Given the description of an element on the screen output the (x, y) to click on. 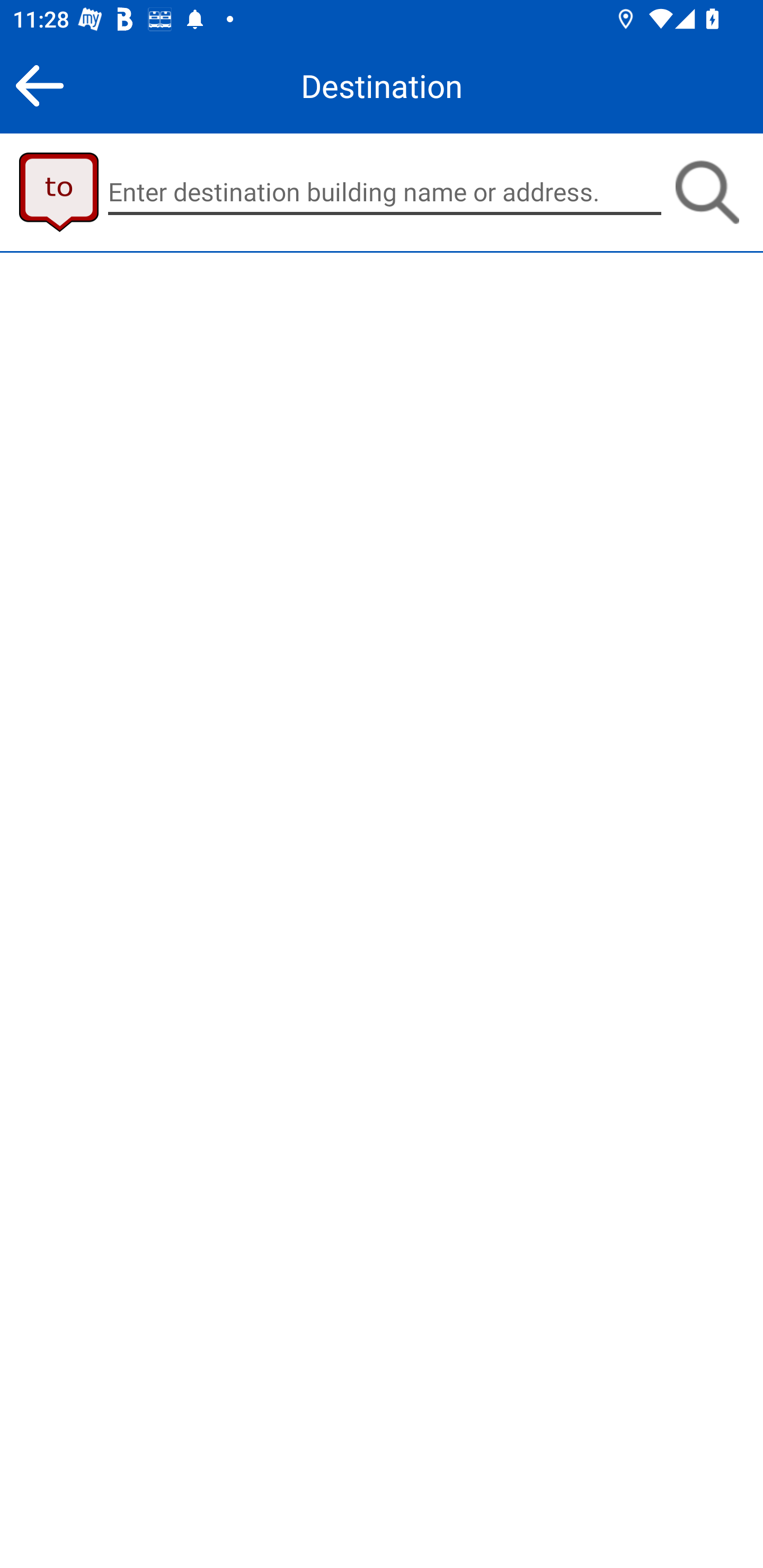
Back (39, 85)
Enter destination building name or address. (384, 191)
Search (707, 191)
